Given the description of an element on the screen output the (x, y) to click on. 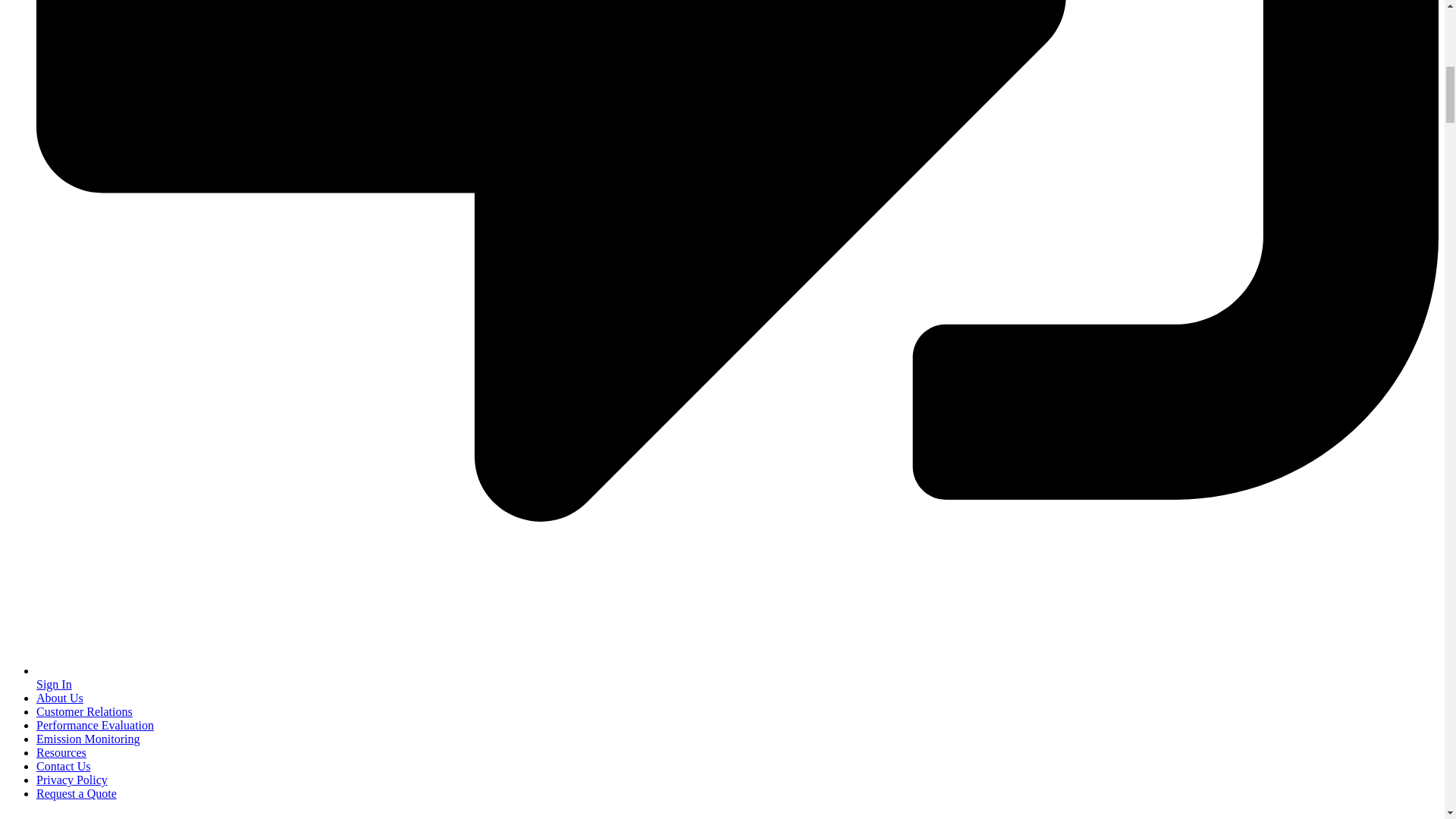
Performance Evaluation (95, 725)
About Us (59, 697)
Emission Monitoring (87, 738)
Request a Quote (76, 793)
Customer Relations (84, 711)
Resources (60, 752)
Privacy Policy (71, 779)
Contact Us (63, 766)
